Given the description of an element on the screen output the (x, y) to click on. 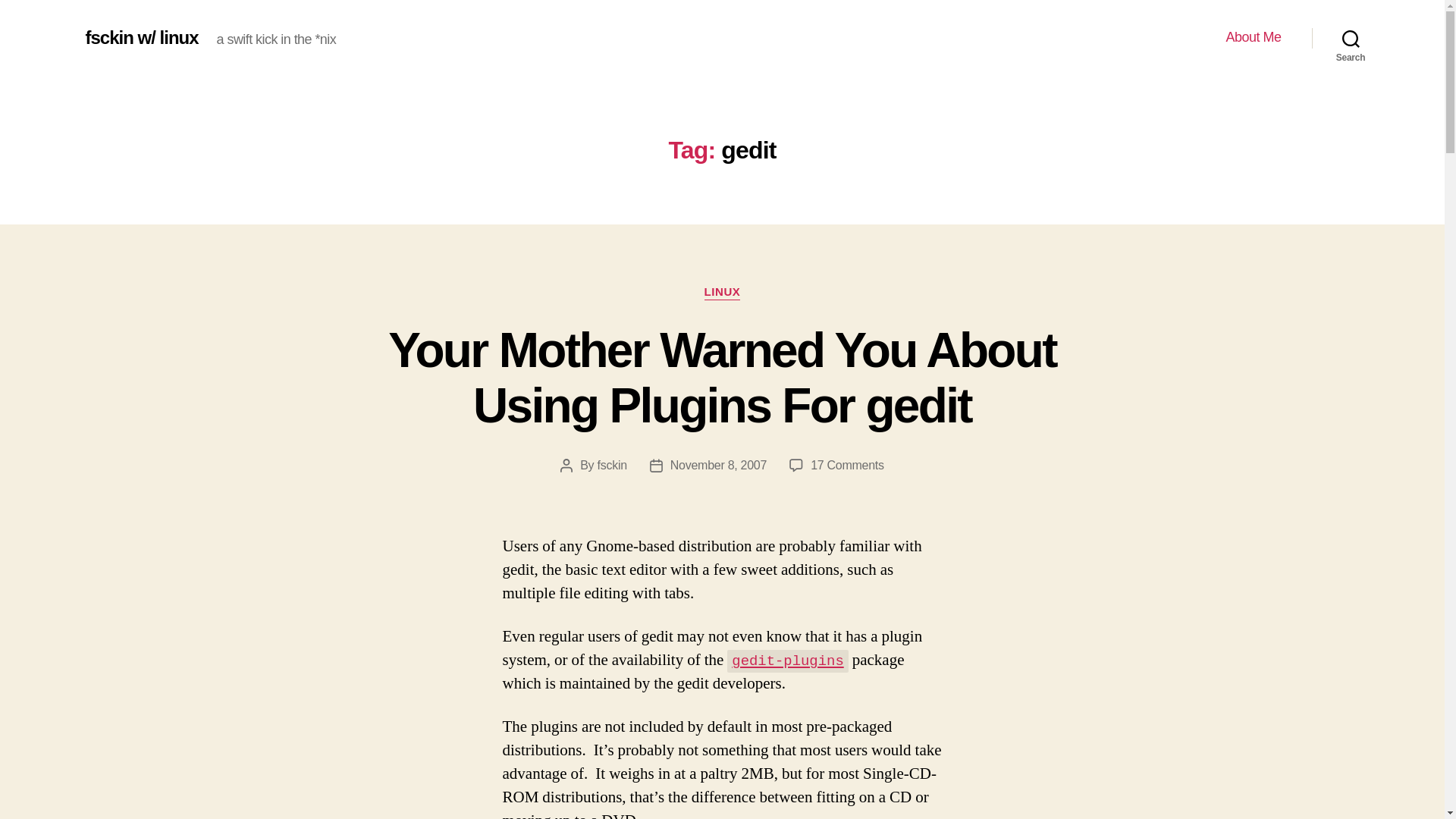
November 8, 2007 (718, 464)
Search (1350, 37)
gedit-plugins (786, 660)
Your Mother Warned You About Using Plugins For gedit (722, 377)
About Me (1253, 37)
fsckin (611, 464)
LINUX (722, 292)
